Given the description of an element on the screen output the (x, y) to click on. 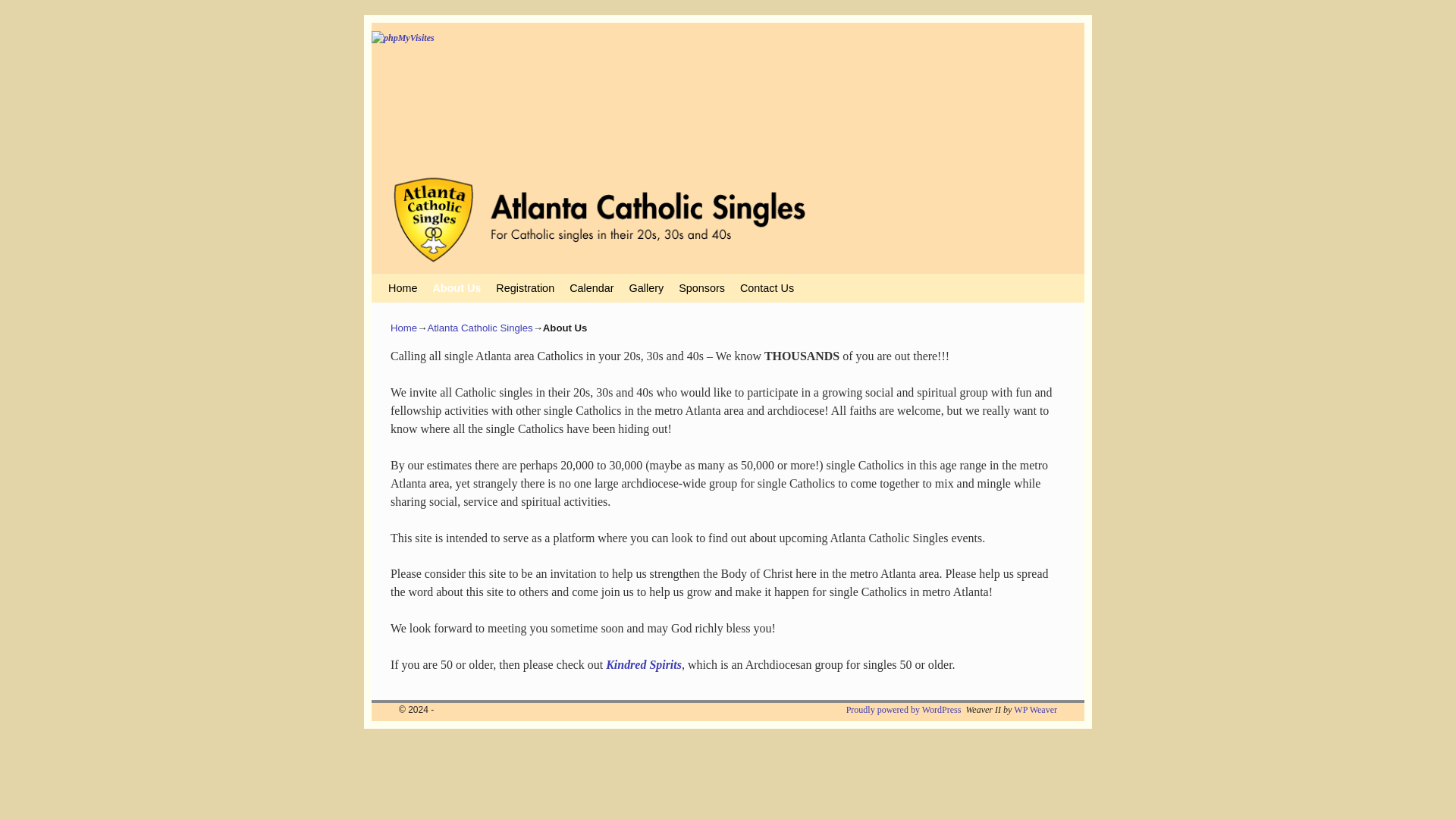
wordpress.org (902, 709)
Proudly powered by WordPress (902, 709)
Skip to primary content (415, 280)
Home (403, 327)
Atlanta Catholic Singles (479, 327)
Free web analytics, website statistics (727, 95)
Skip to secondary content (419, 280)
Kindred Spirits (643, 664)
Kindred Spirits (643, 664)
Sponsors (701, 287)
